Given the description of an element on the screen output the (x, y) to click on. 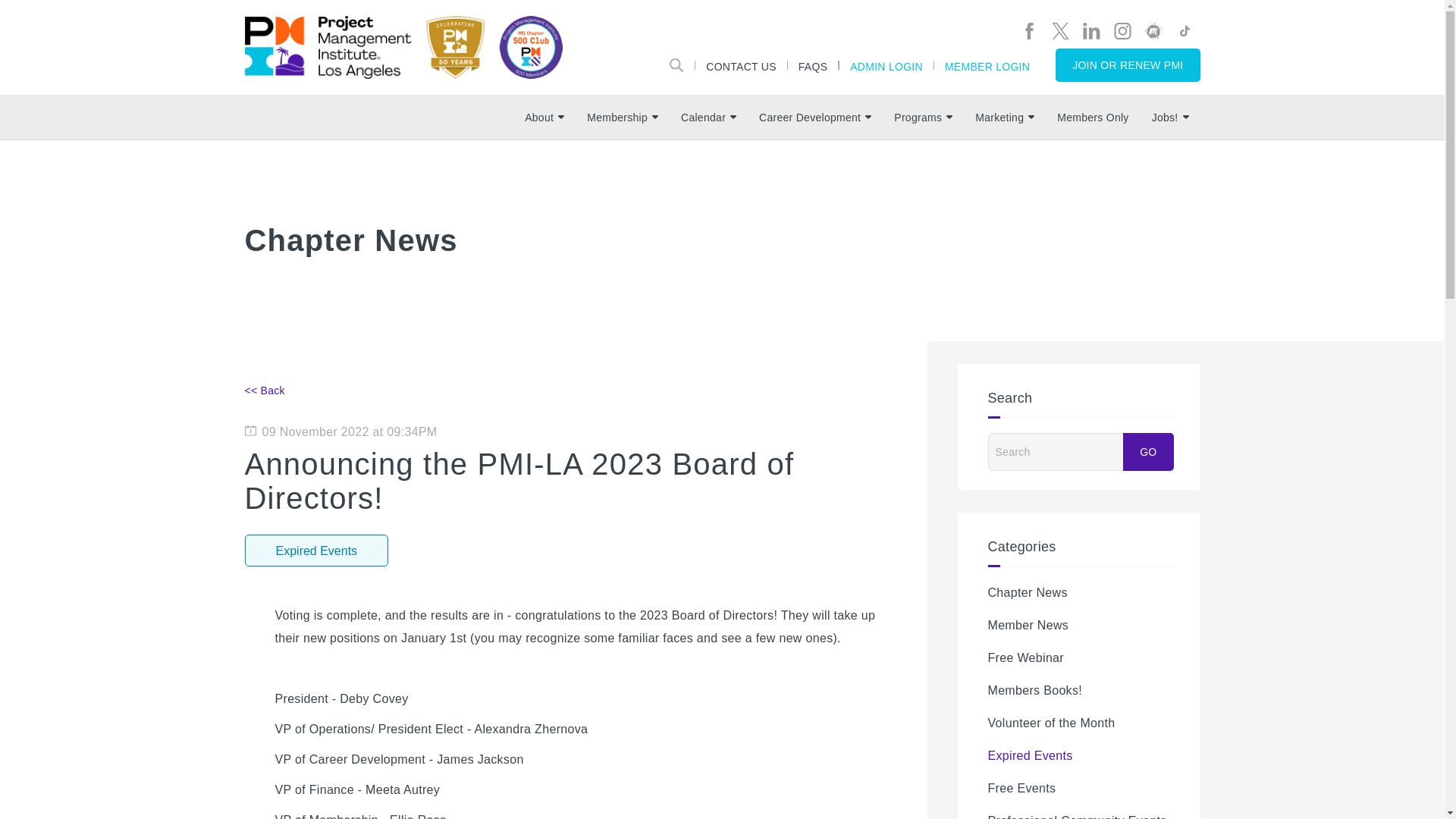
About (544, 117)
MEMBER LOGIN (987, 64)
JOIN OR RENEW PMI (1127, 64)
Membership (622, 117)
TIKTOK (1183, 30)
Search (676, 63)
FAQS (812, 64)
ADMIN LOGIN (886, 64)
CONTACT US (741, 64)
TIKTOK (1183, 30)
